Given the description of an element on the screen output the (x, y) to click on. 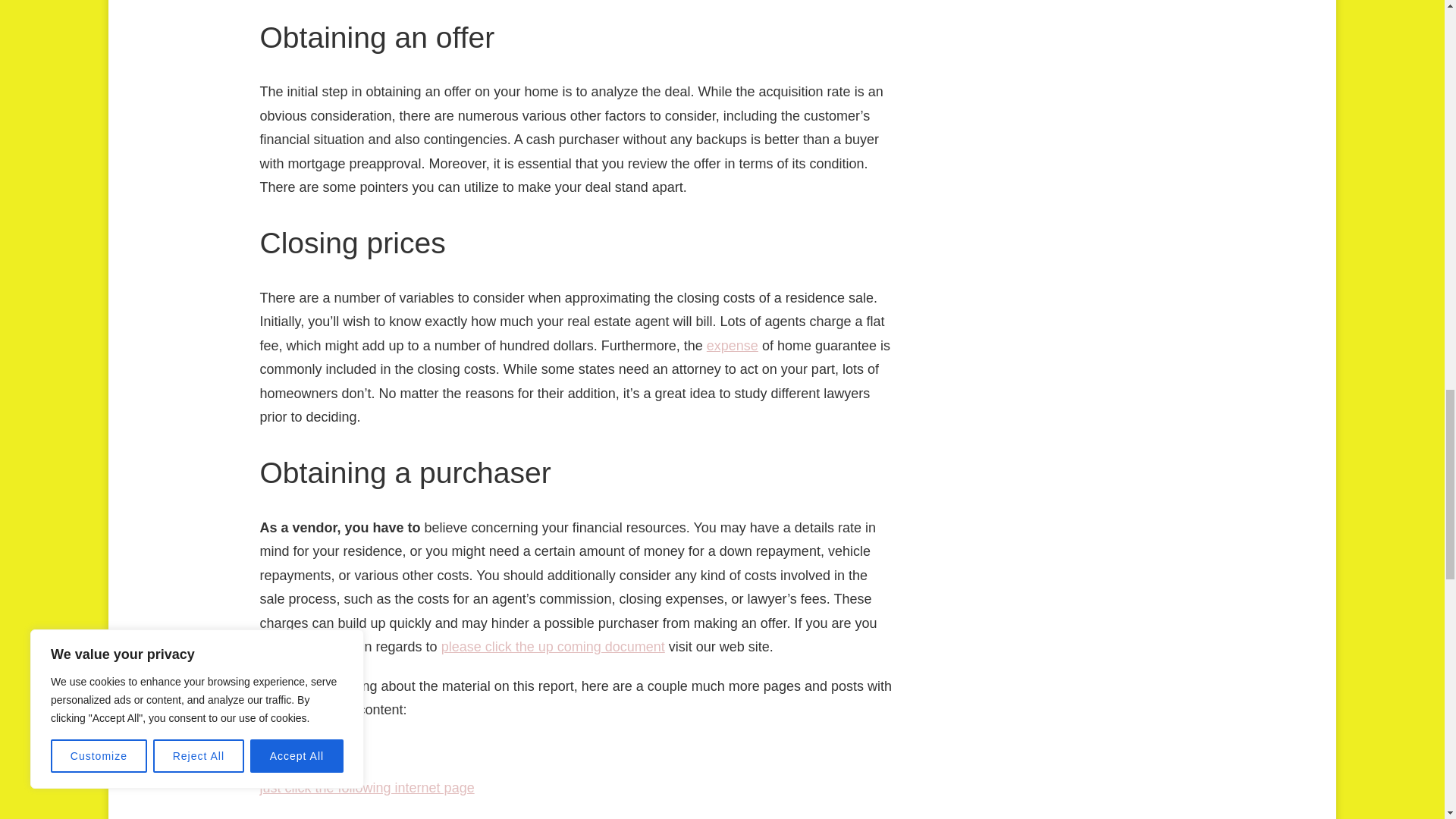
expense (732, 345)
just click the following internet page (366, 787)
please click the up coming document (553, 646)
Visit site (284, 749)
